Given the description of an element on the screen output the (x, y) to click on. 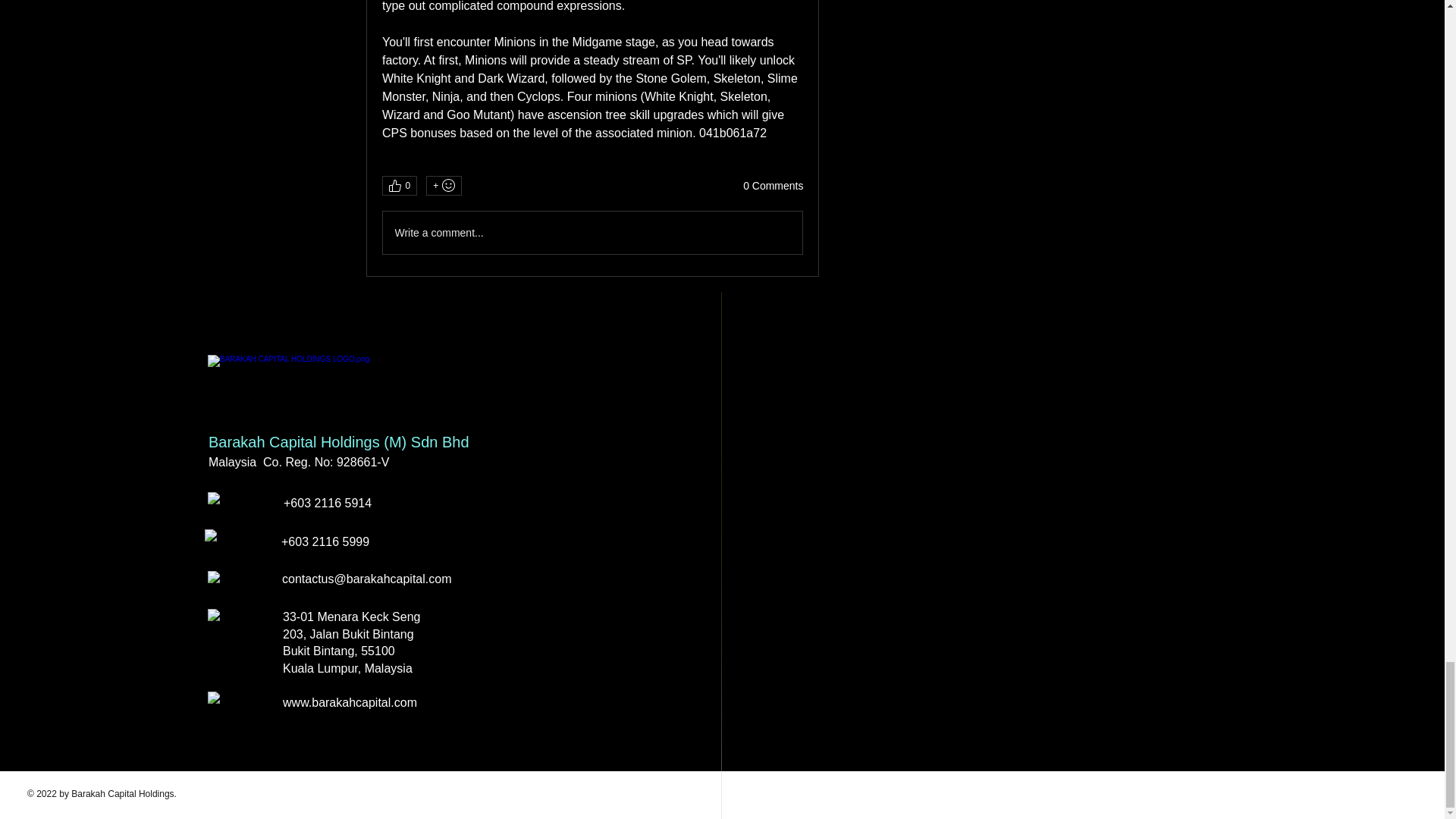
0 Comments (772, 186)
Write a comment... (591, 232)
